Given the description of an element on the screen output the (x, y) to click on. 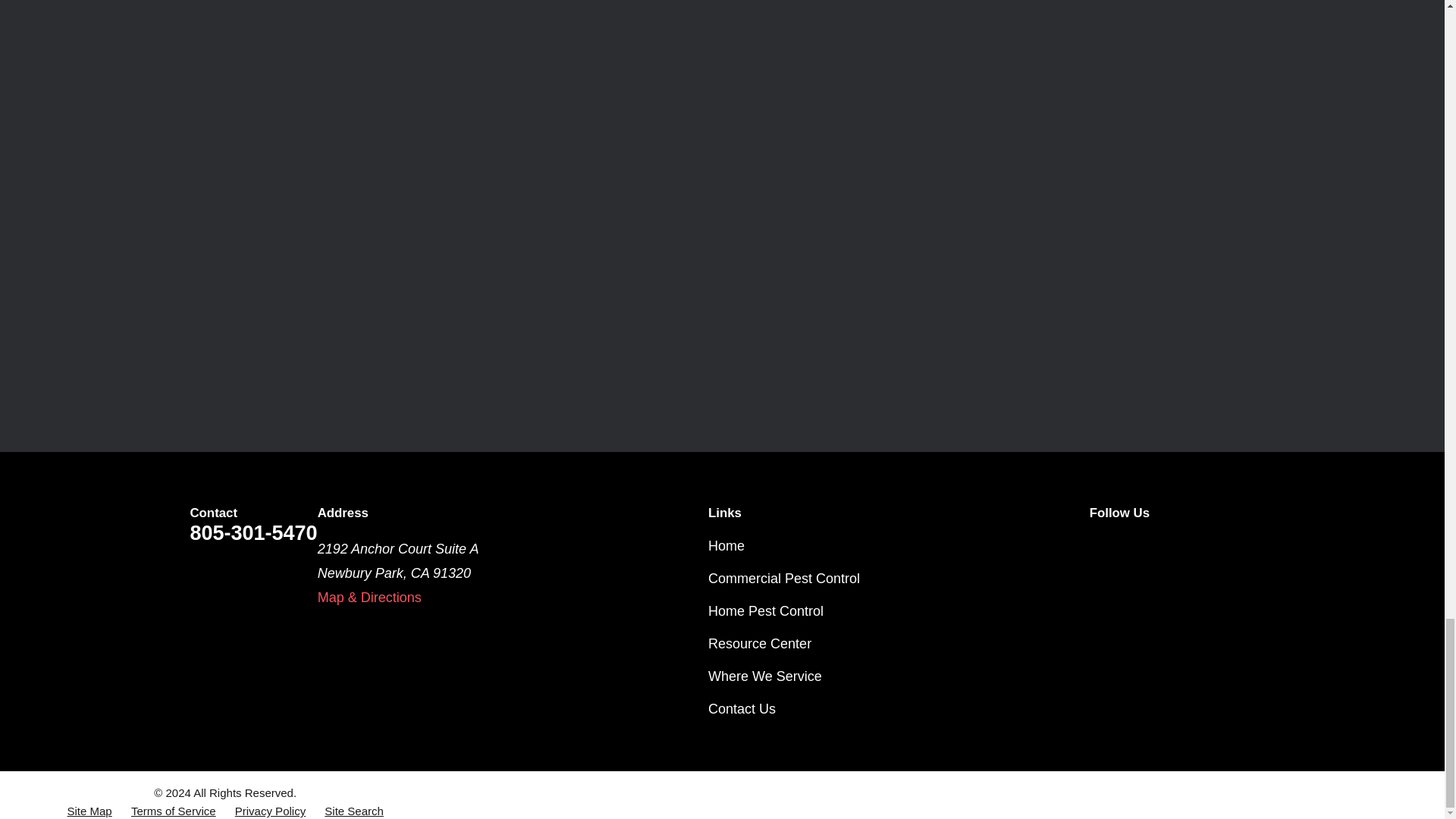
Twitter (1098, 546)
Yelp (1243, 546)
Google Business Profile (1195, 546)
Facebook (1147, 546)
